Given the description of an element on the screen output the (x, y) to click on. 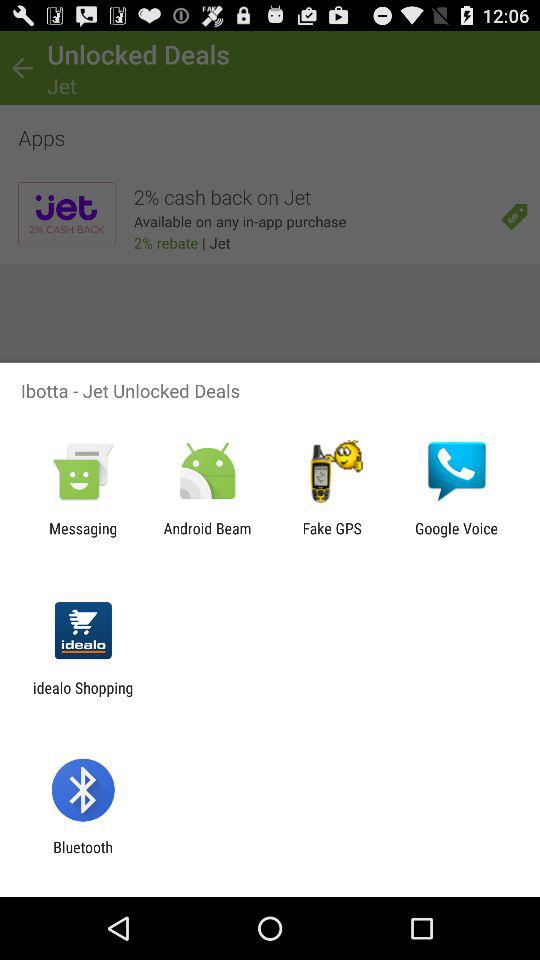
launch icon next to the messaging item (207, 537)
